Given the description of an element on the screen output the (x, y) to click on. 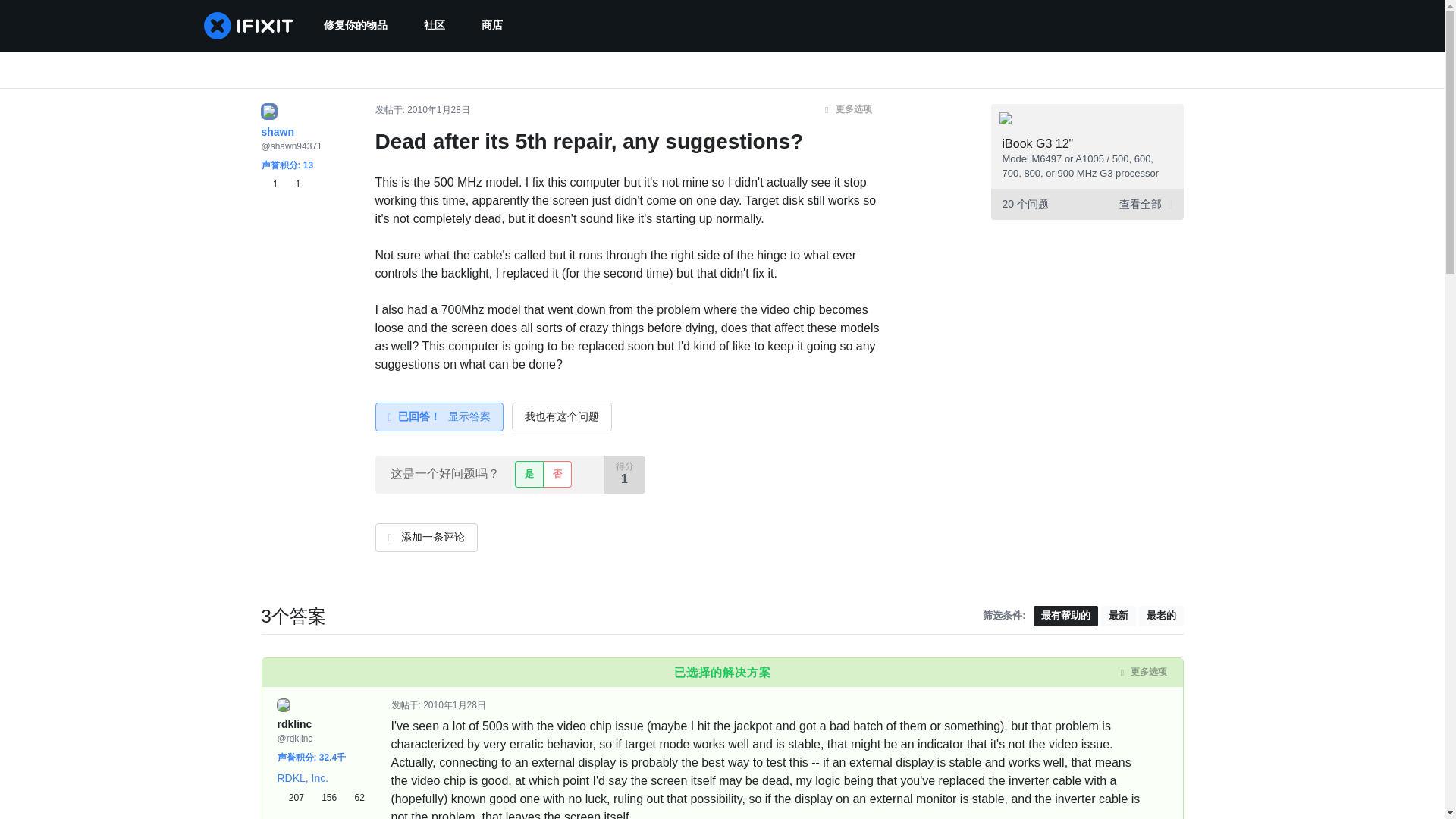
iBook G3 12" (1038, 143)
1 1 (279, 184)
207 156 62 (321, 797)
Thu, 28 Jan 2010 22:28:23 -0700 (438, 109)
Thu, 28 Jan 2010 23:55:55 -0700 (454, 705)
RDKL, Inc. (303, 777)
